Given the description of an element on the screen output the (x, y) to click on. 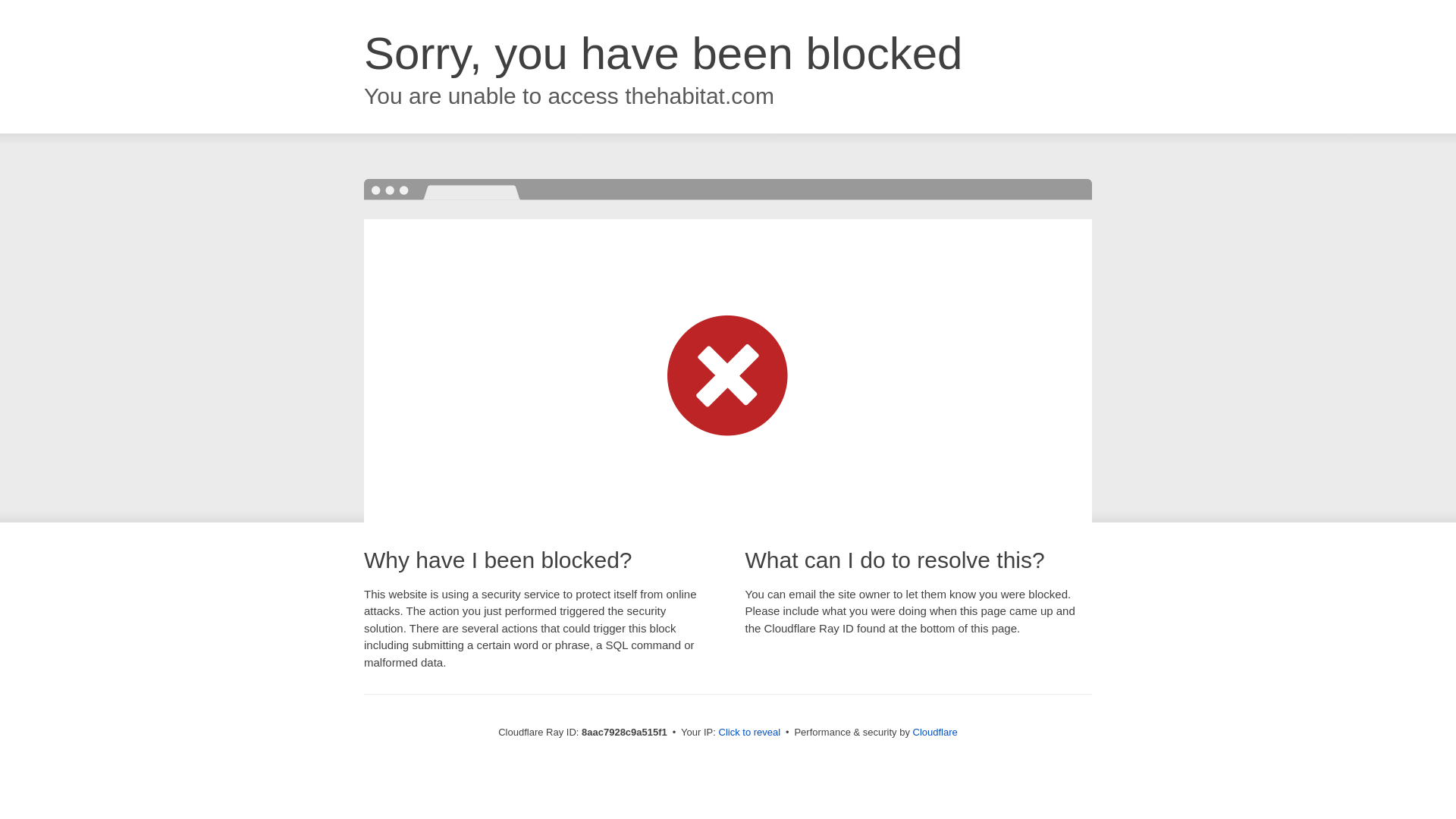
Click to reveal (749, 732)
Cloudflare (935, 731)
